Given the description of an element on the screen output the (x, y) to click on. 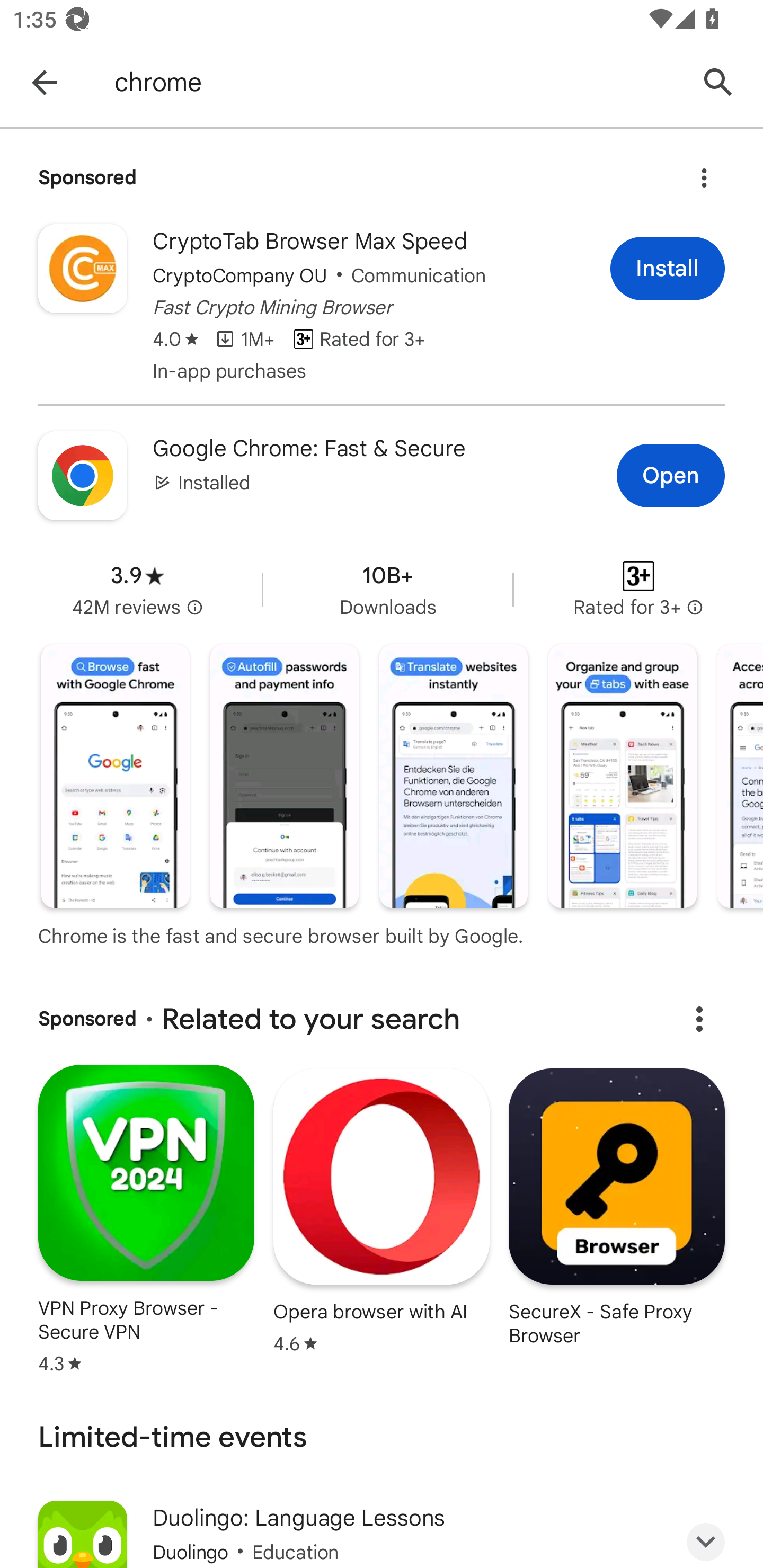
chrome (397, 82)
Navigate up (44, 81)
Search Google Play (718, 81)
About this ad (704, 172)
Install (667, 268)
Open (670, 475)
Average rating 3.9 stars in 42 million reviews (137, 590)
Downloaded 10 billion plus times (387, 590)
Content rating Rated for 3+ (638, 590)
Screenshot "1" of "8" (115, 775)
Screenshot "2" of "8" (284, 775)
Screenshot "3" of "8" (453, 775)
Screenshot "4" of "8" (622, 775)
About this ad (699, 1018)
VPN Proxy Browser - Secure VPN
Star rating: 4.3
 (145, 1218)
Opera browser with AI
Star rating: 4.6
 (381, 1210)
SecureX - Safe Proxy Browser
 (616, 1206)
Expand content for Duolingo: Language Lessons (705, 1535)
